Given the description of an element on the screen output the (x, y) to click on. 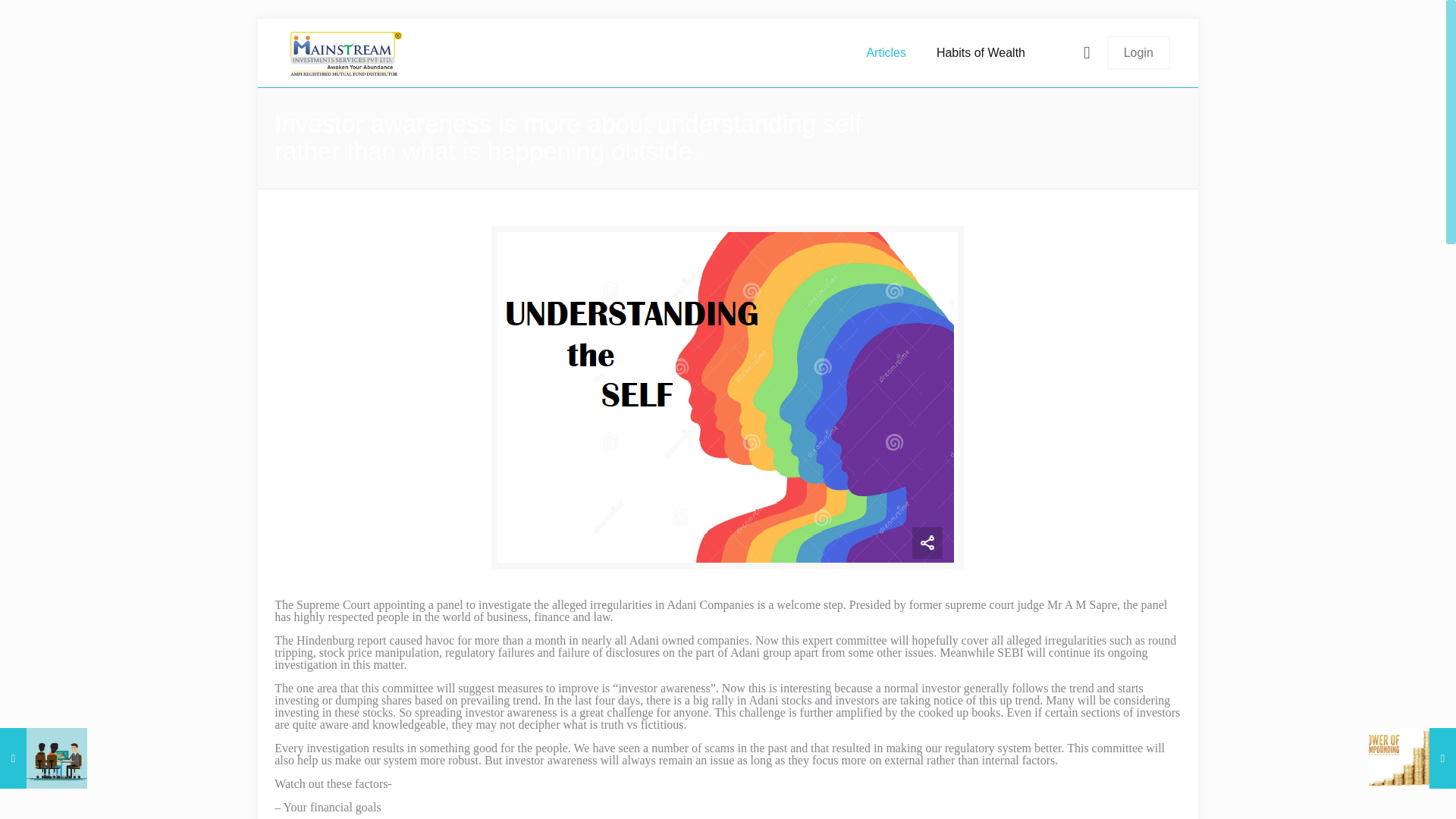
Mainstream Investments Services Pvt. Ltd., (345, 52)
Login (1138, 52)
Articles (885, 52)
Habits of Wealth (981, 52)
